Given the description of an element on the screen output the (x, y) to click on. 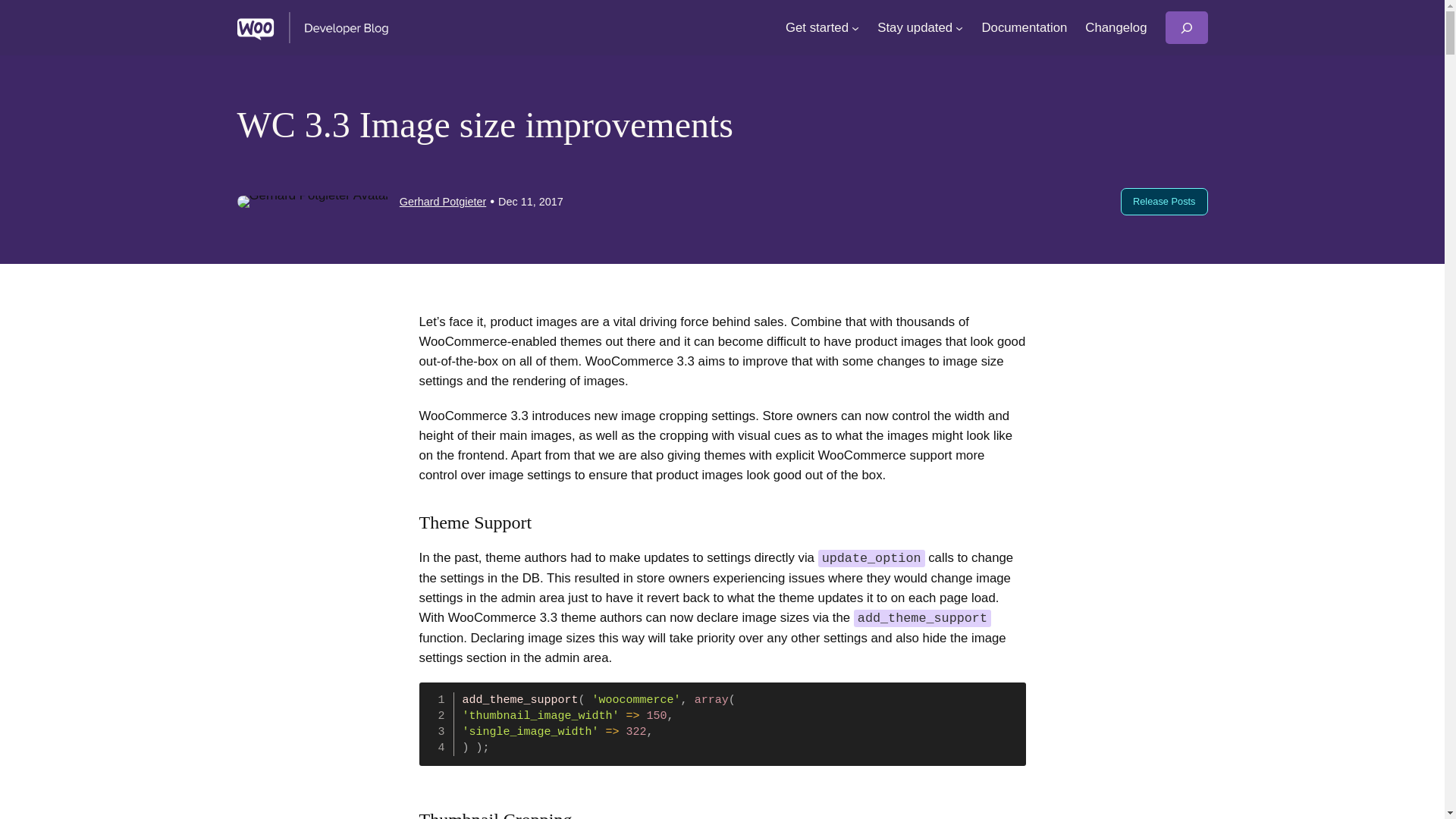
Changelog (1115, 27)
Stay updated (914, 27)
Release Posts (1163, 201)
Get started (817, 27)
Documentation (1024, 27)
Gerhard Potgieter (442, 201)
Dec 11, 2017 (530, 201)
